Given the description of an element on the screen output the (x, y) to click on. 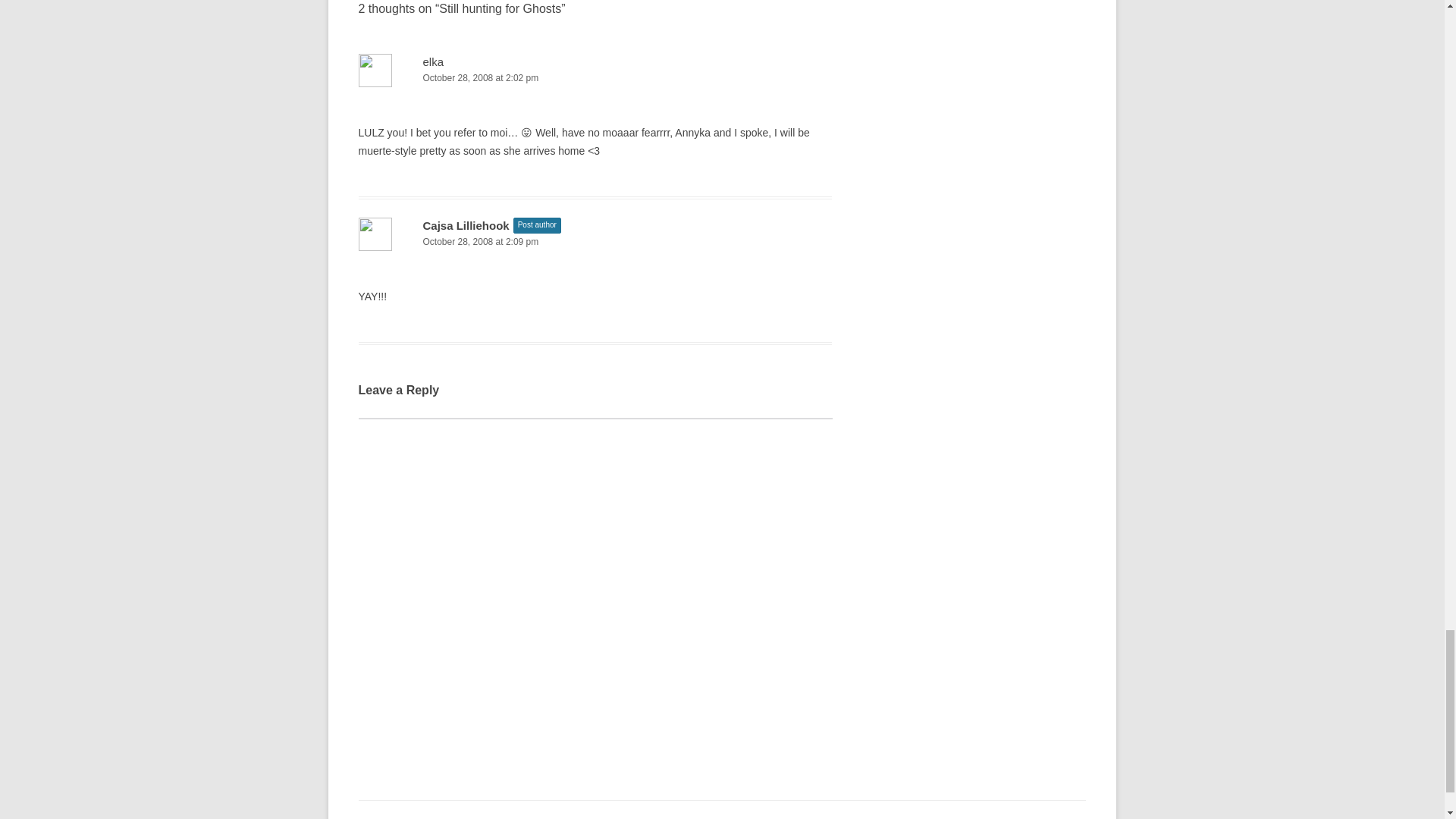
Cajsa Lilliehook (466, 225)
October 28, 2008 at 2:09 pm (594, 242)
October 28, 2008 at 2:02 pm (594, 78)
elka (433, 61)
